Given the description of an element on the screen output the (x, y) to click on. 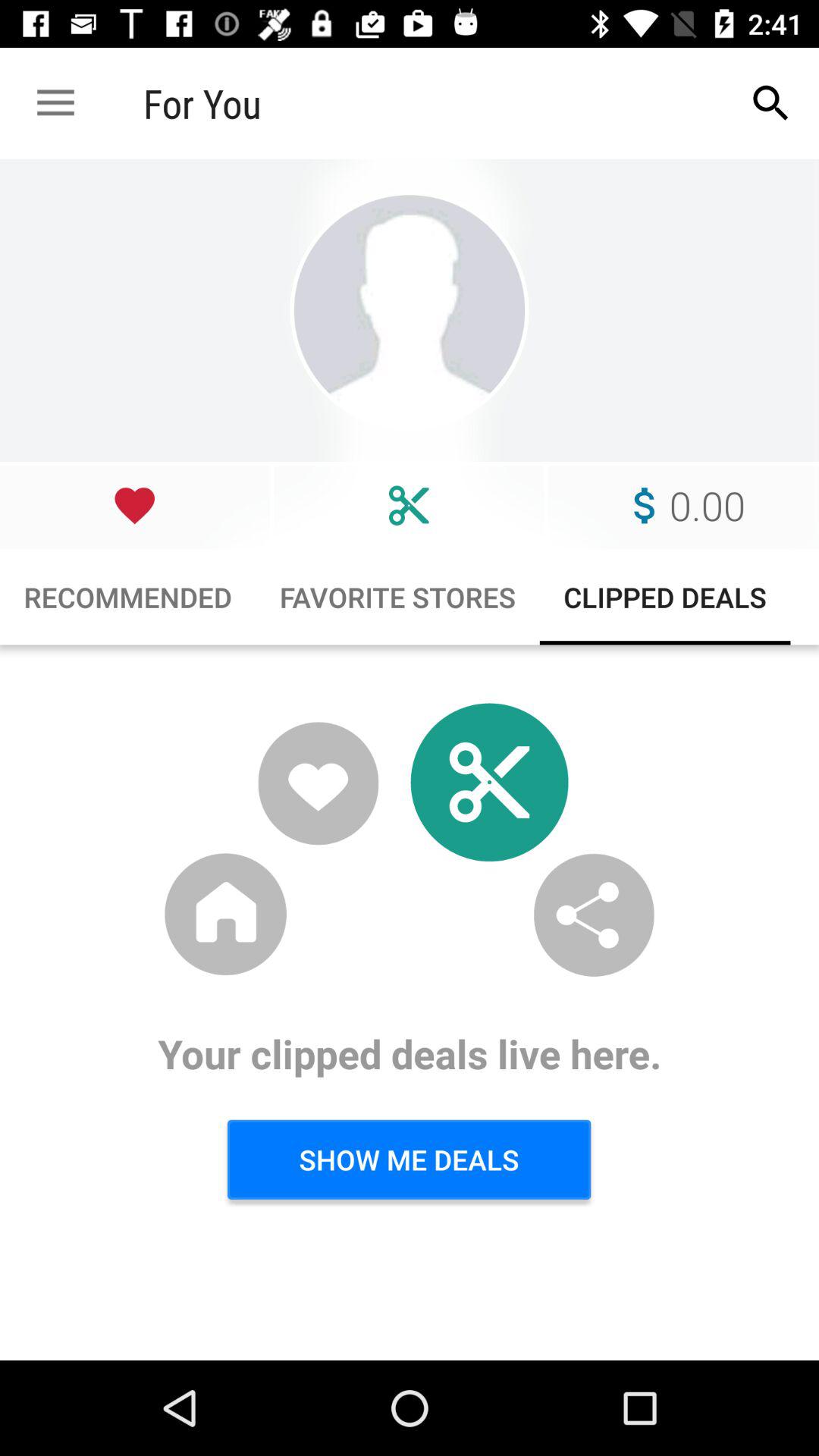
choose profile picture (409, 310)
